Given the description of an element on the screen output the (x, y) to click on. 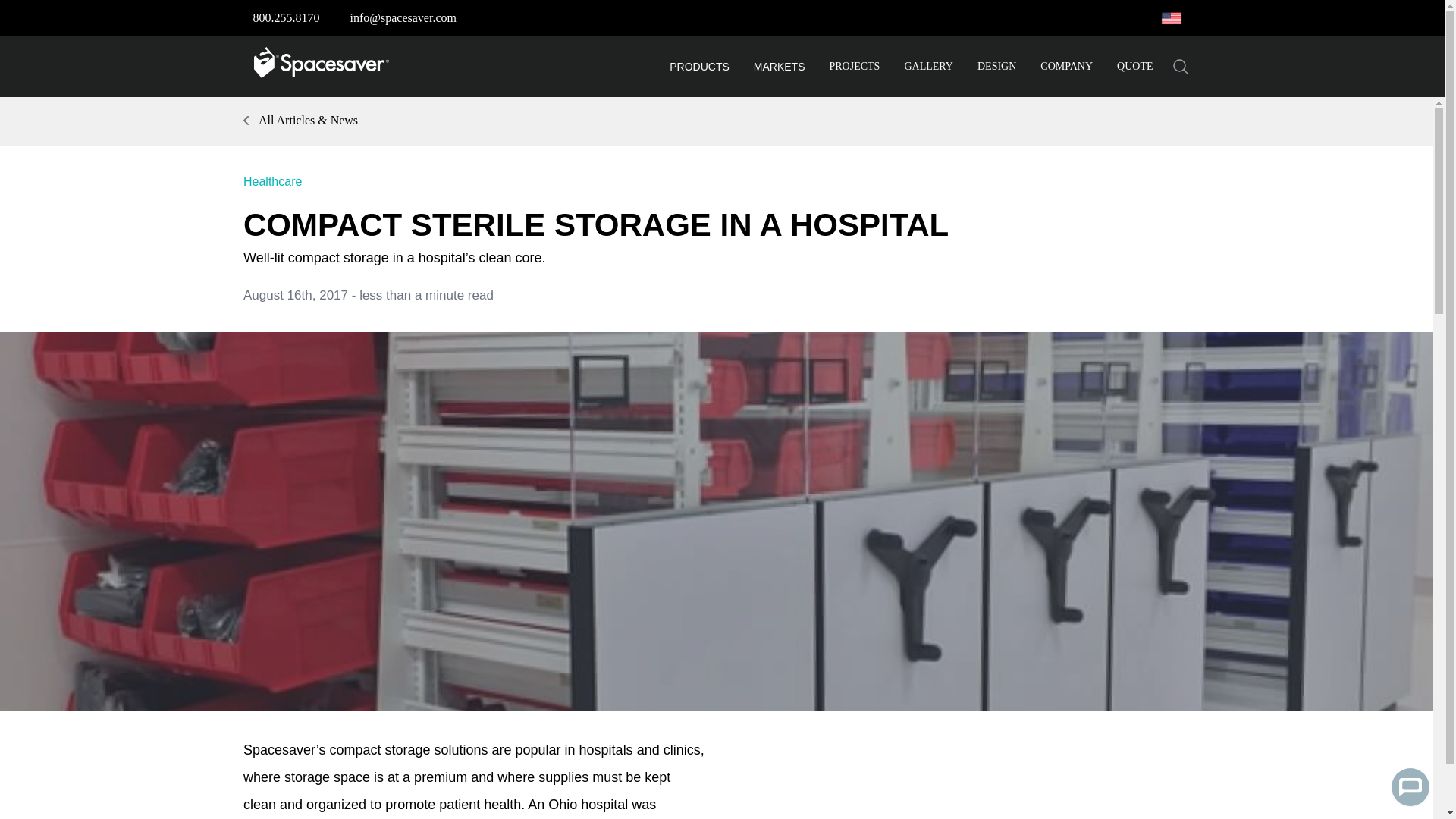
PRODUCTS (699, 66)
MARKETS (779, 66)
Search (1179, 66)
PROJECTS (854, 66)
GALLERY (928, 66)
800.255.8170 (286, 17)
Healthcare (272, 181)
